Given the description of an element on the screen output the (x, y) to click on. 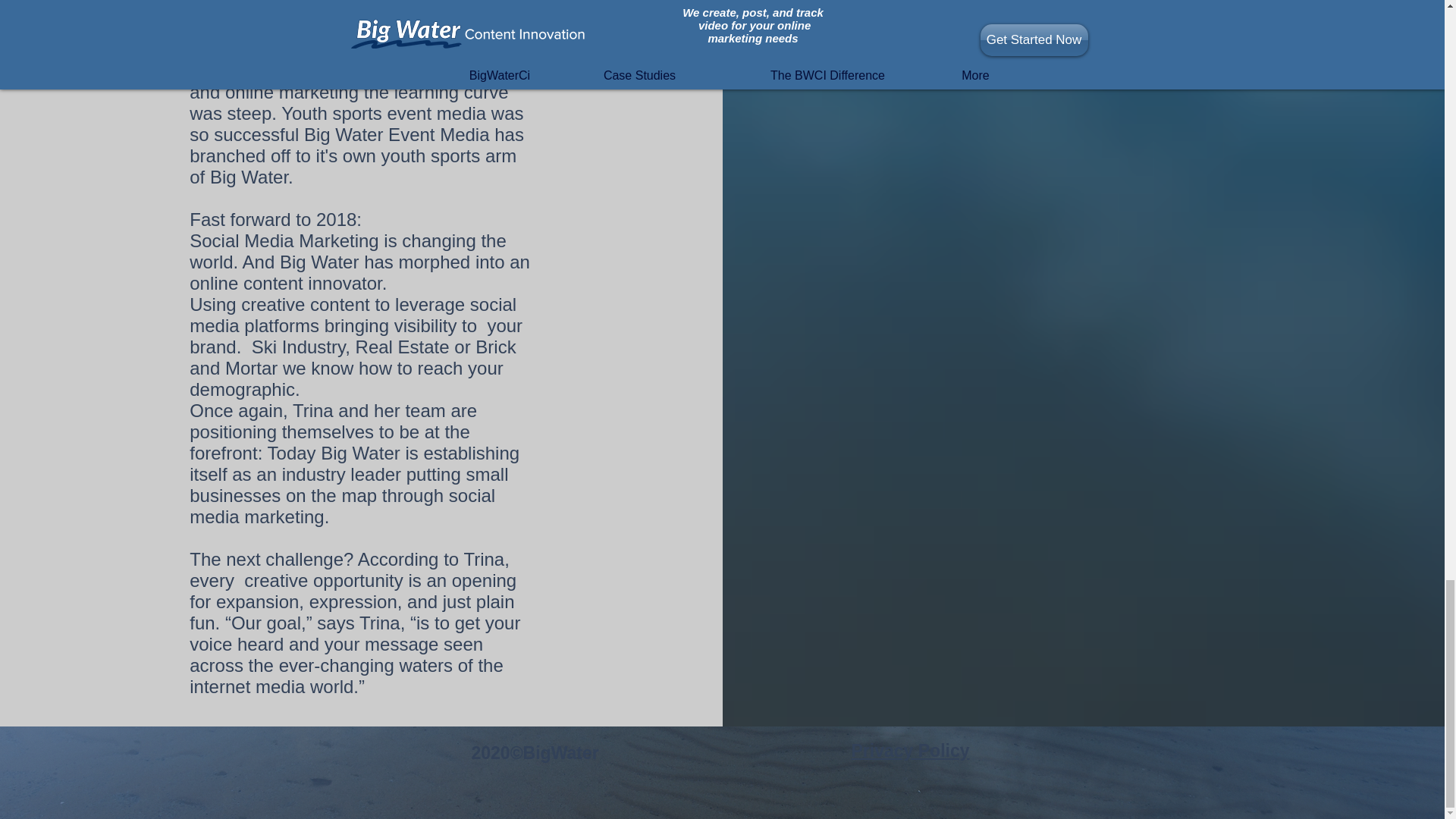
Privacy Policy (909, 750)
